Given the description of an element on the screen output the (x, y) to click on. 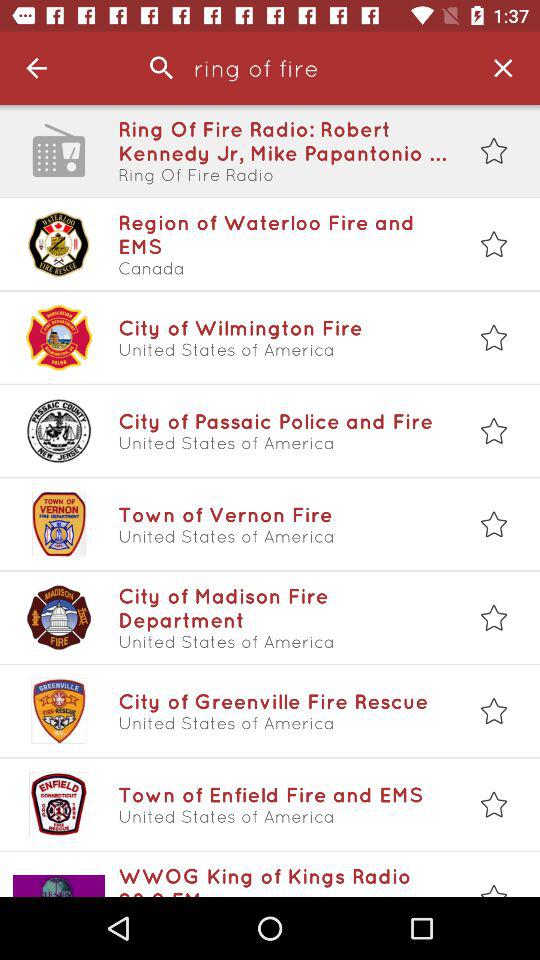
click item below region of waterloo icon (283, 268)
